Given the description of an element on the screen output the (x, y) to click on. 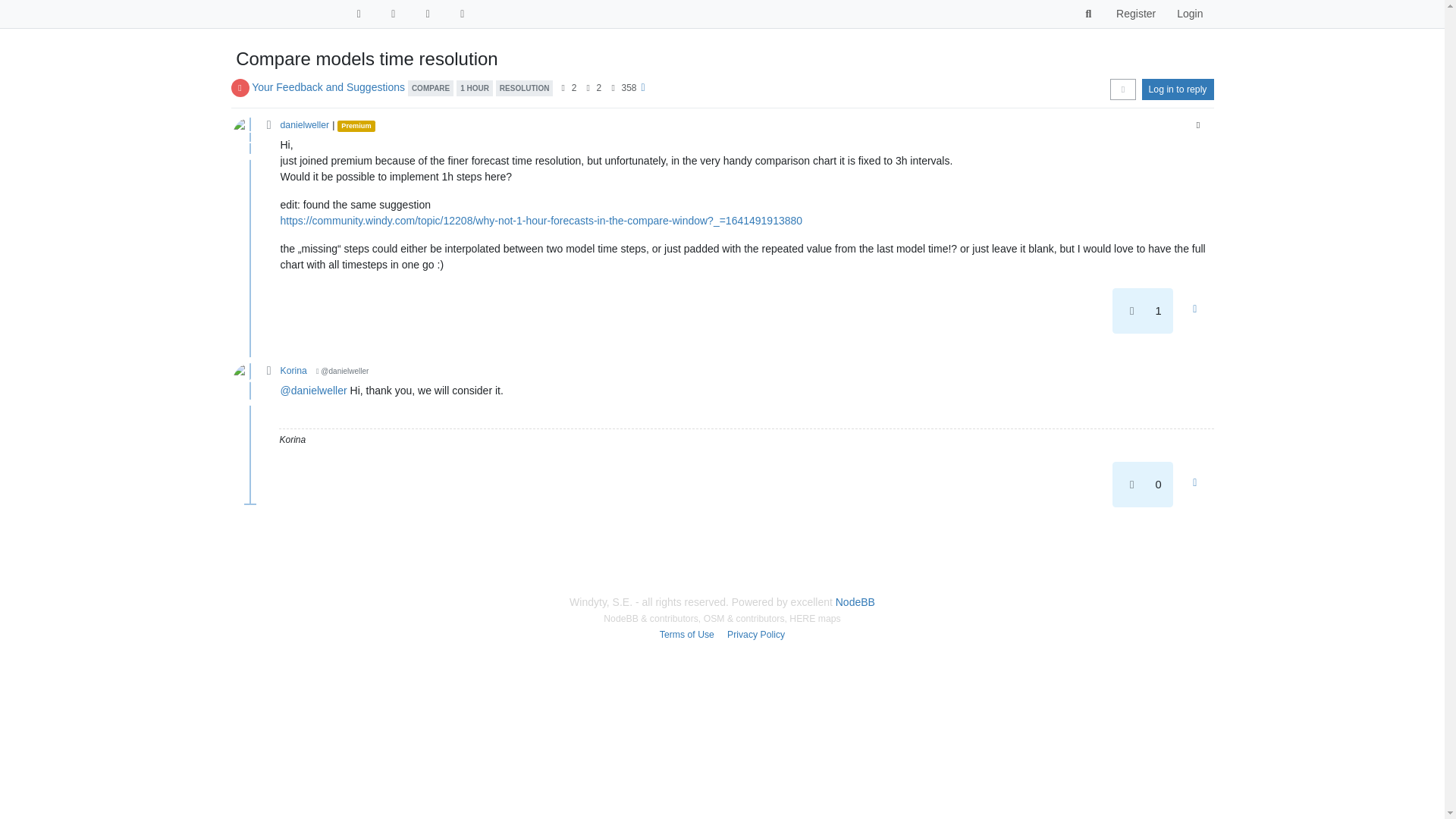
1 HOUR (475, 87)
Sort by (1122, 88)
Your Feedback and Suggestions (327, 87)
Go to windy.com (462, 13)
Unread (357, 13)
Posters (563, 87)
Categories (392, 13)
Views (612, 87)
Log in to reply (1177, 88)
Groups (427, 13)
danielweller (305, 124)
COMPARE (429, 87)
Register (1135, 13)
danielweller (249, 135)
Korina (294, 370)
